Given the description of an element on the screen output the (x, y) to click on. 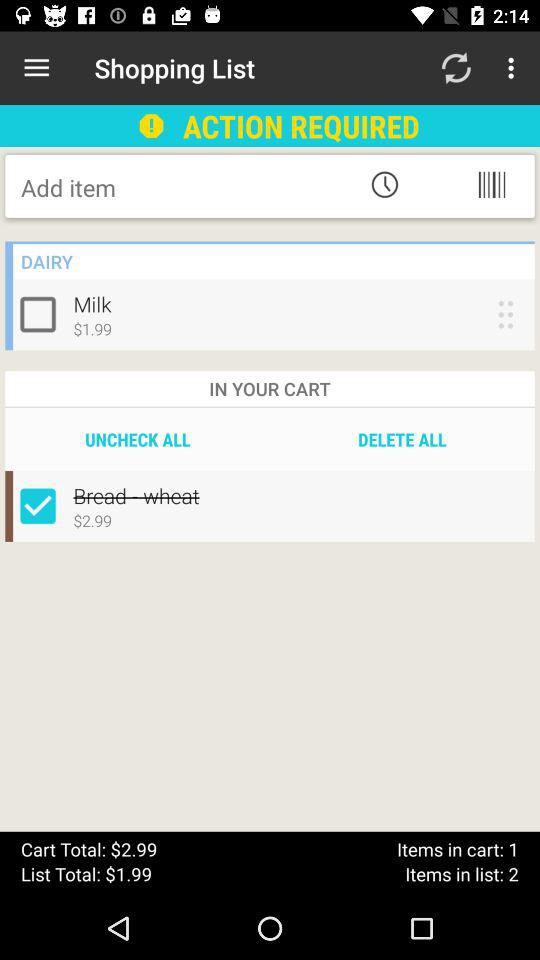
select/un-select box (41, 505)
